Given the description of an element on the screen output the (x, y) to click on. 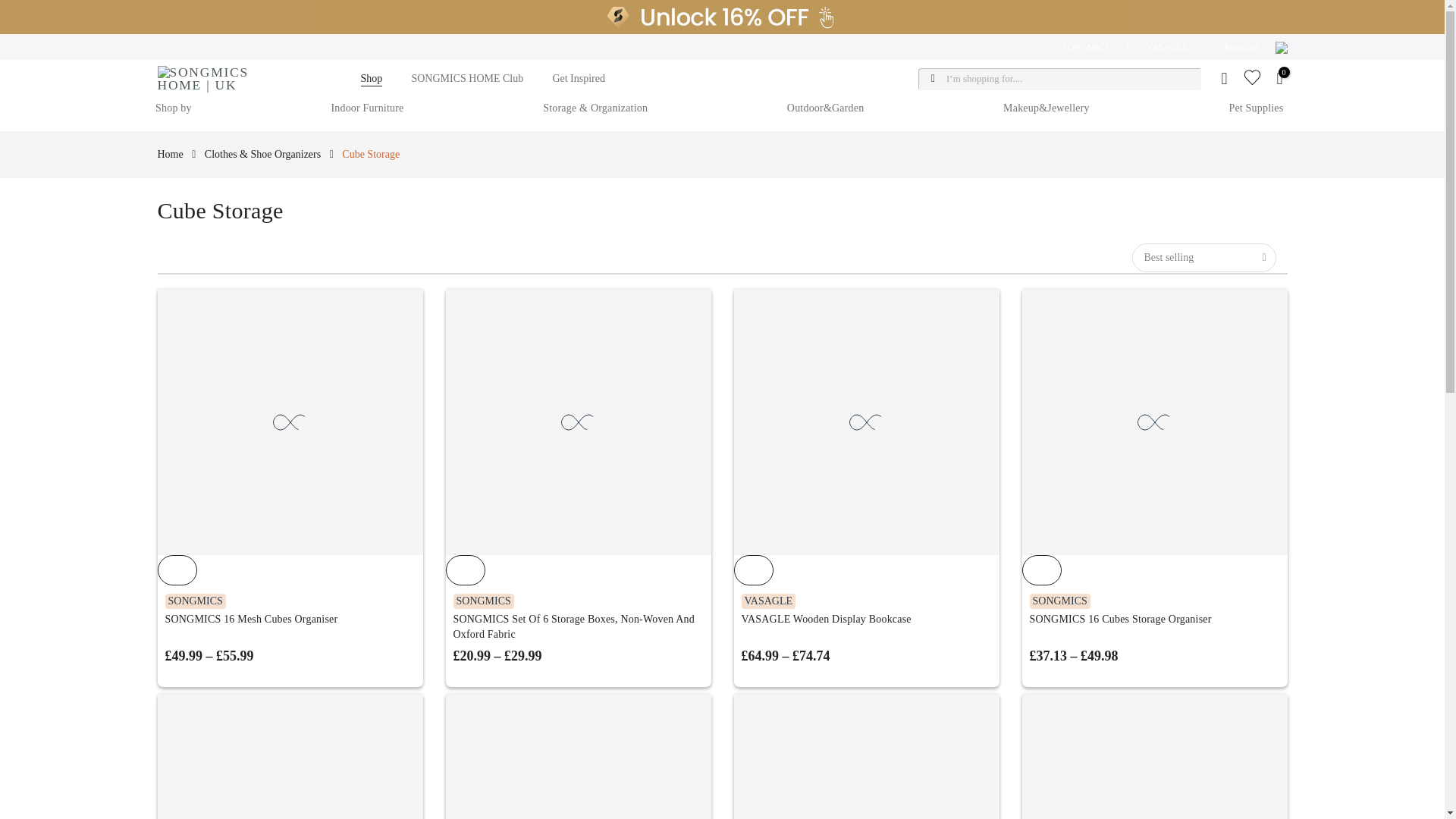
VASAGLE (1166, 46)
Shop by (180, 107)
SONGMICS (1085, 46)
Feandrea (1240, 46)
